Given the description of an element on the screen output the (x, y) to click on. 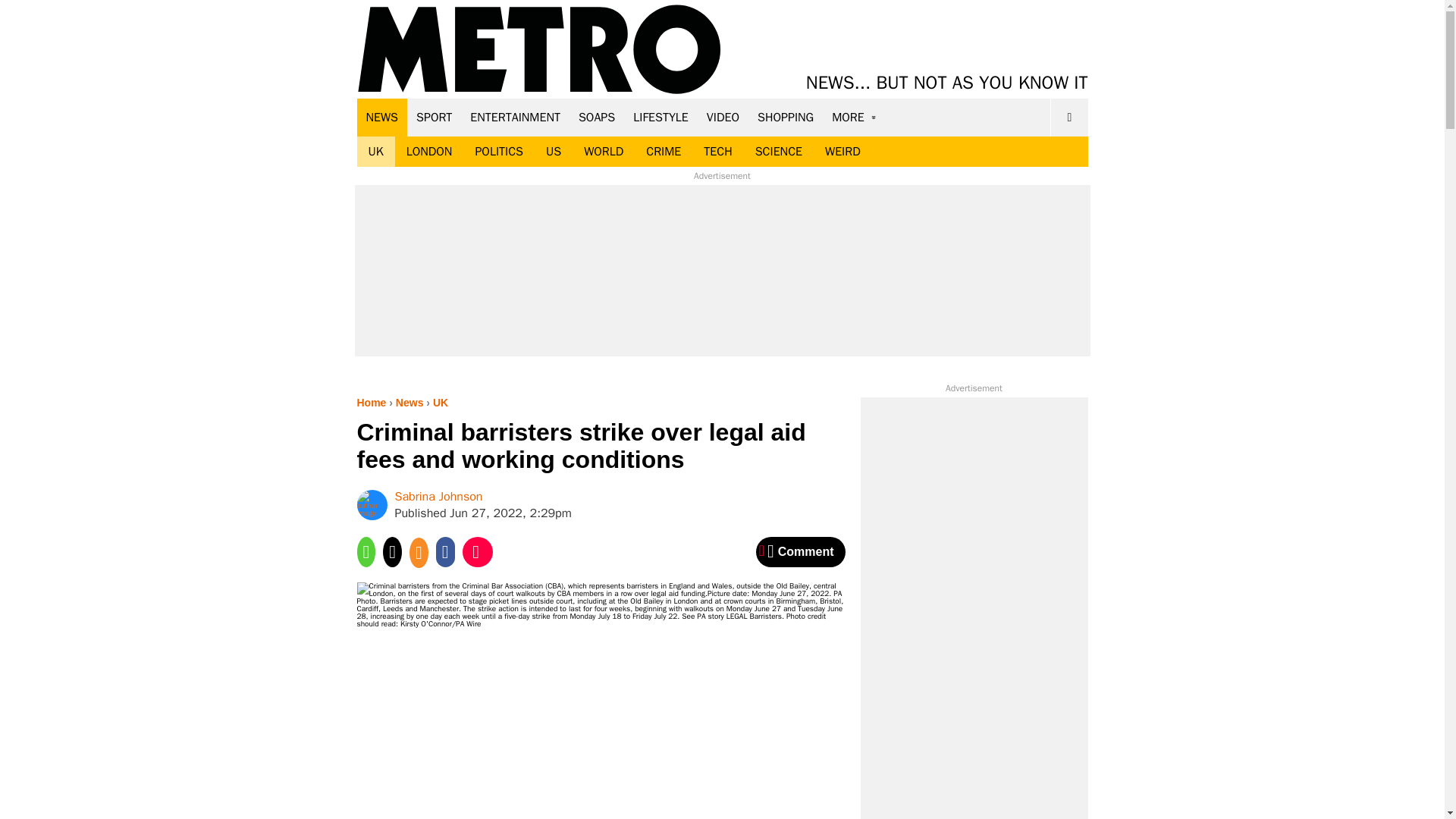
ENTERTAINMENT (515, 117)
POLITICS (498, 151)
SCIENCE (778, 151)
LIFESTYLE (660, 117)
UK (375, 151)
SOAPS (596, 117)
LONDON (429, 151)
Metro (539, 50)
WORLD (603, 151)
US (553, 151)
